Given the description of an element on the screen output the (x, y) to click on. 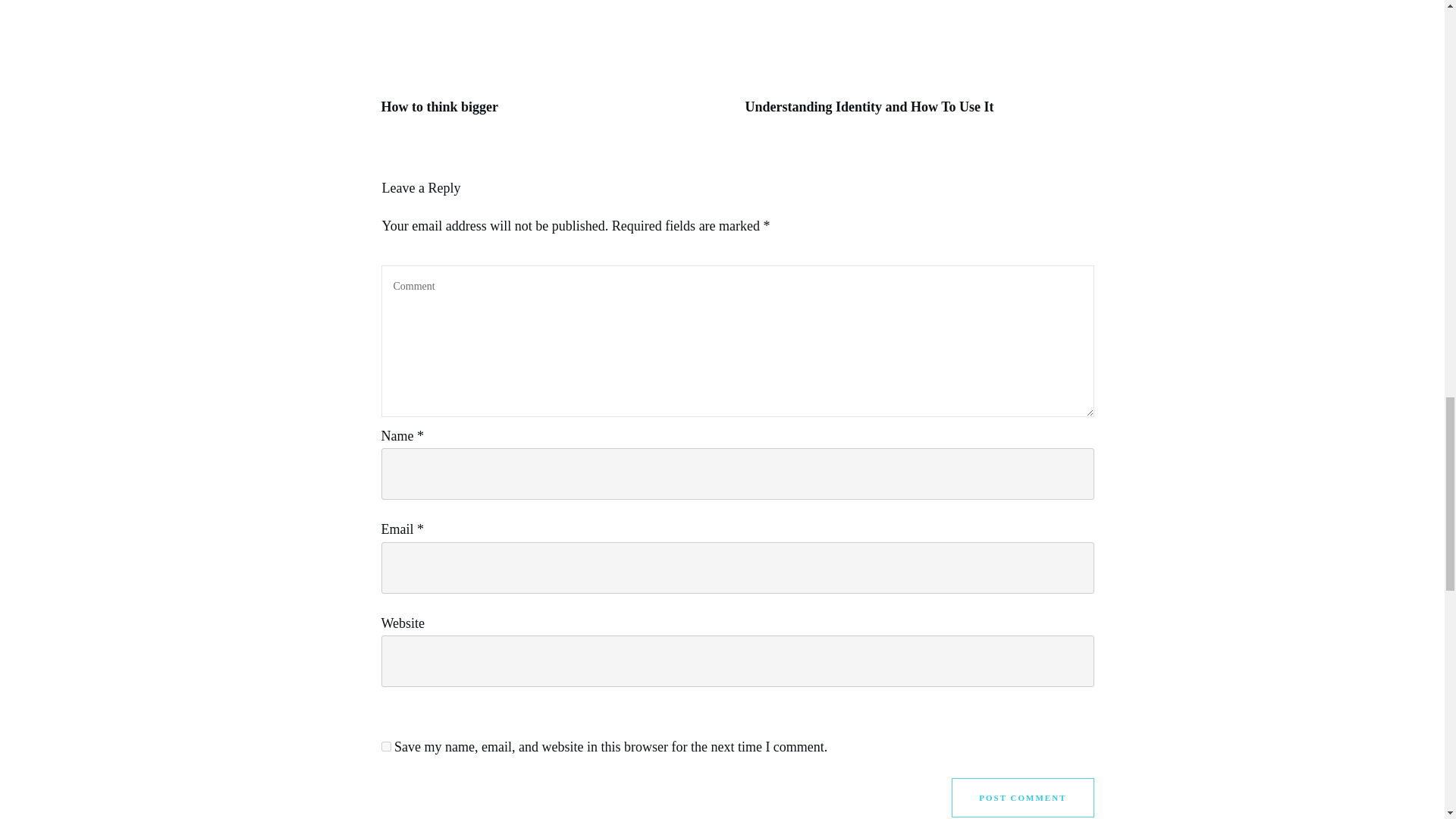
How to think bigger (554, 65)
Understanding Identity and How To Use It (918, 65)
Understanding Identity and How To Use It (868, 106)
POST COMMENT (1022, 797)
How to think bigger (438, 106)
yes (385, 746)
Understanding Identity and How To Use It (868, 106)
How to think bigger (438, 106)
